Given the description of an element on the screen output the (x, y) to click on. 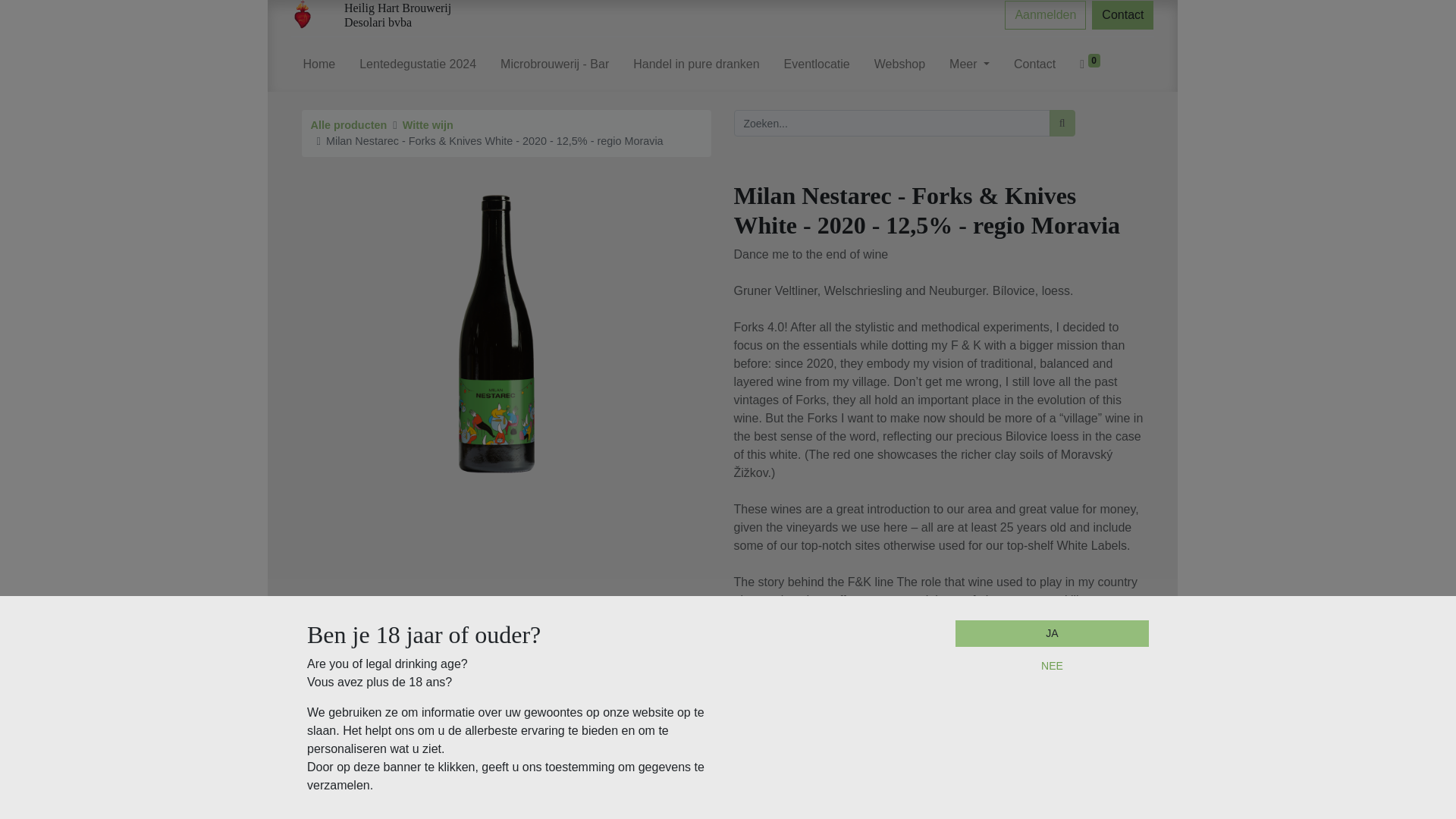
Webshop (899, 67)
Witte wijn (427, 124)
Eventlocatie (817, 67)
Contact (1122, 14)
Microbrouwerij - Bar (554, 67)
Alle producten (349, 124)
Aanmelden (1045, 14)
Lentedegustatie 2024 (417, 67)
Handel in pure dranken (695, 67)
Zoek (1062, 122)
